Given the description of an element on the screen output the (x, y) to click on. 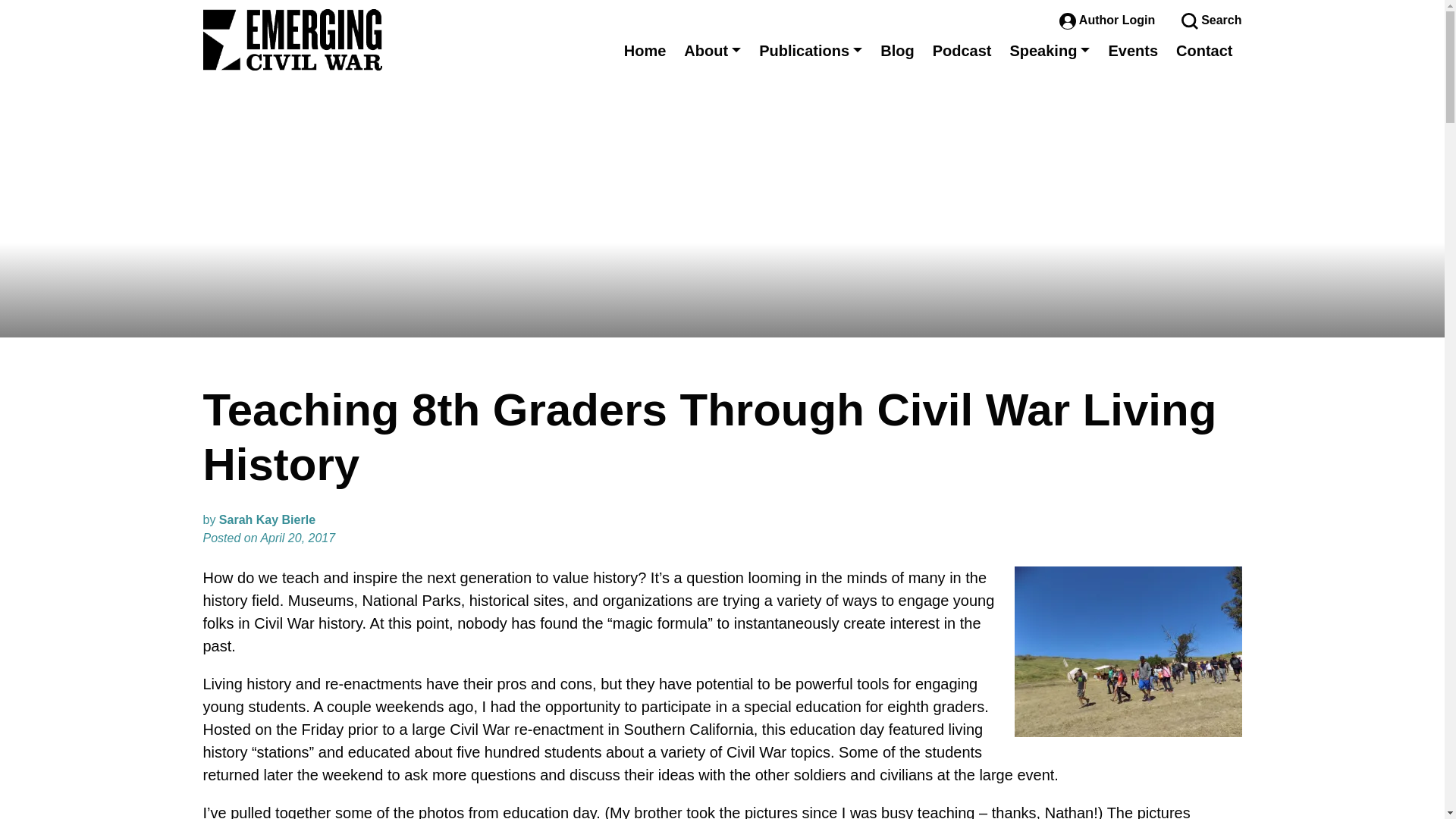
Blog (896, 50)
Search (1210, 19)
Speaking (1049, 50)
Author Login (1108, 19)
Events (1133, 50)
Contact (1204, 50)
About (712, 50)
Podcast (962, 50)
Publications (809, 50)
Sarah Kay Bierle (267, 519)
